Given the description of an element on the screen output the (x, y) to click on. 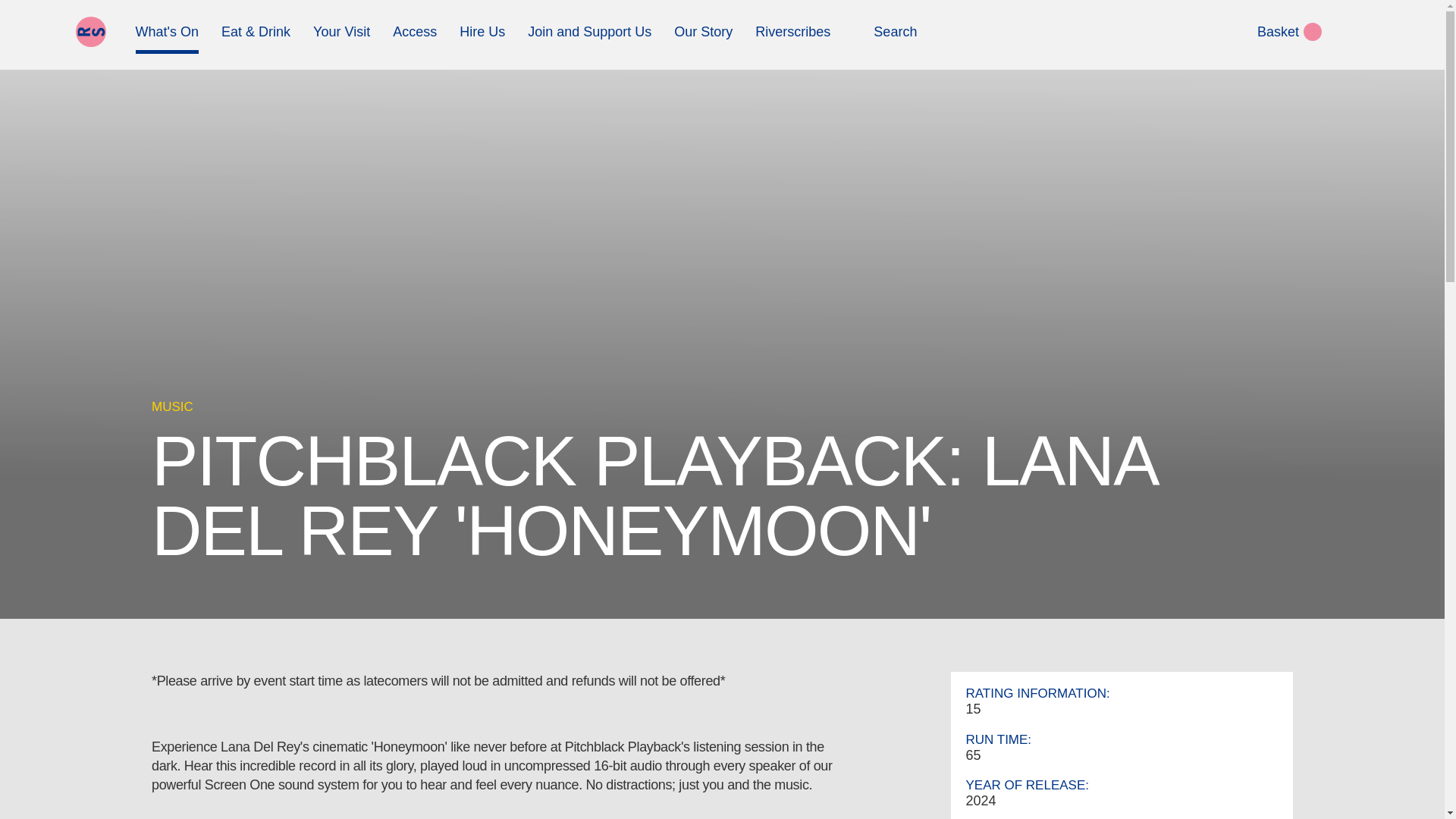
Our Story (703, 37)
Access (414, 37)
Access (414, 37)
Join and Support Us (588, 37)
Basket (1267, 37)
Hire Us (482, 37)
Your Visit (341, 37)
What's On (166, 37)
Join and Support Us (588, 37)
Hire Us (482, 37)
